Given the description of an element on the screen output the (x, y) to click on. 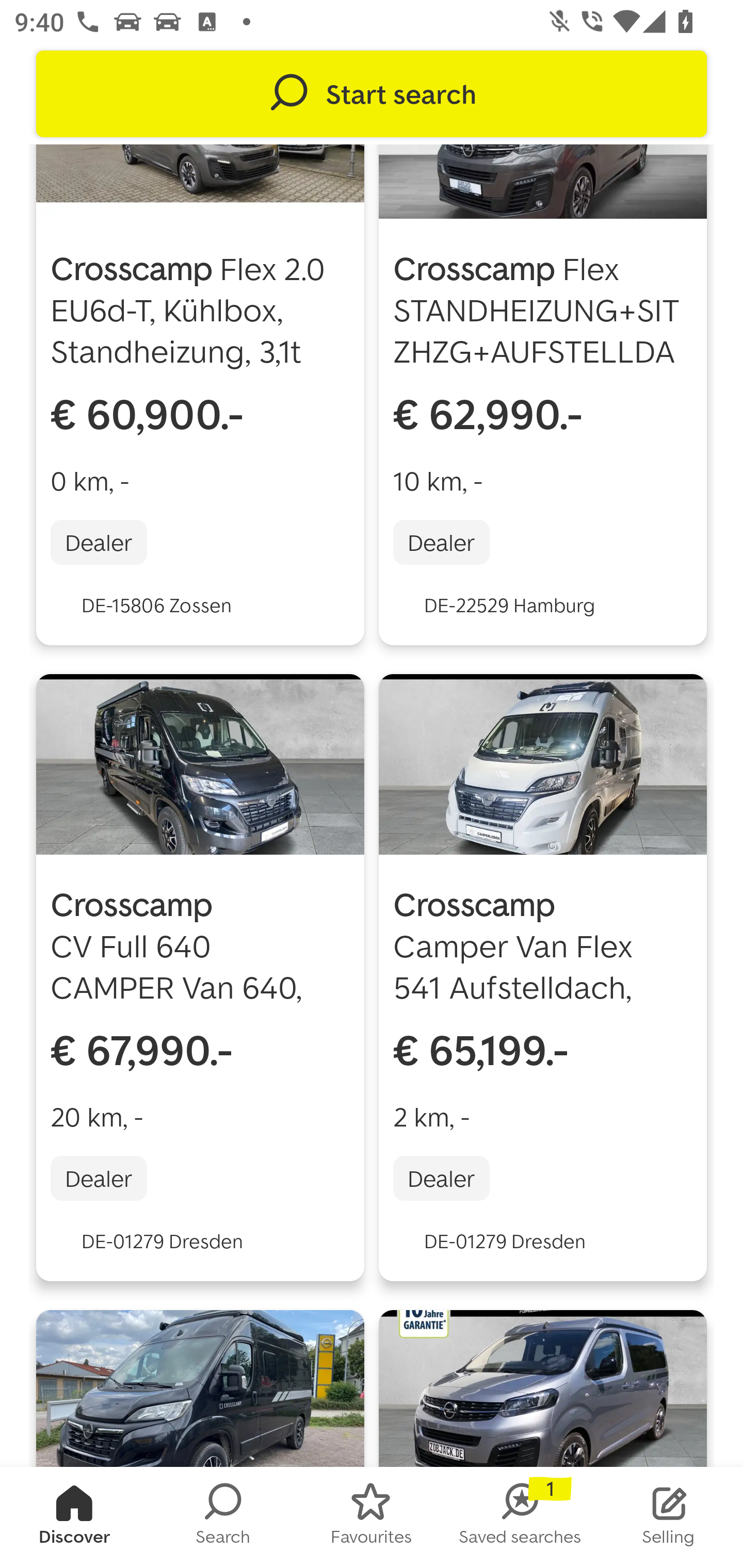
Start search (371, 93)
HOMESCREEN Discover (74, 1517)
SEARCH Search (222, 1517)
FAVORITES Favourites (371, 1517)
SAVED_SEARCHES Saved searches 1 (519, 1517)
STOCK_LIST Selling (668, 1517)
